Given the description of an element on the screen output the (x, y) to click on. 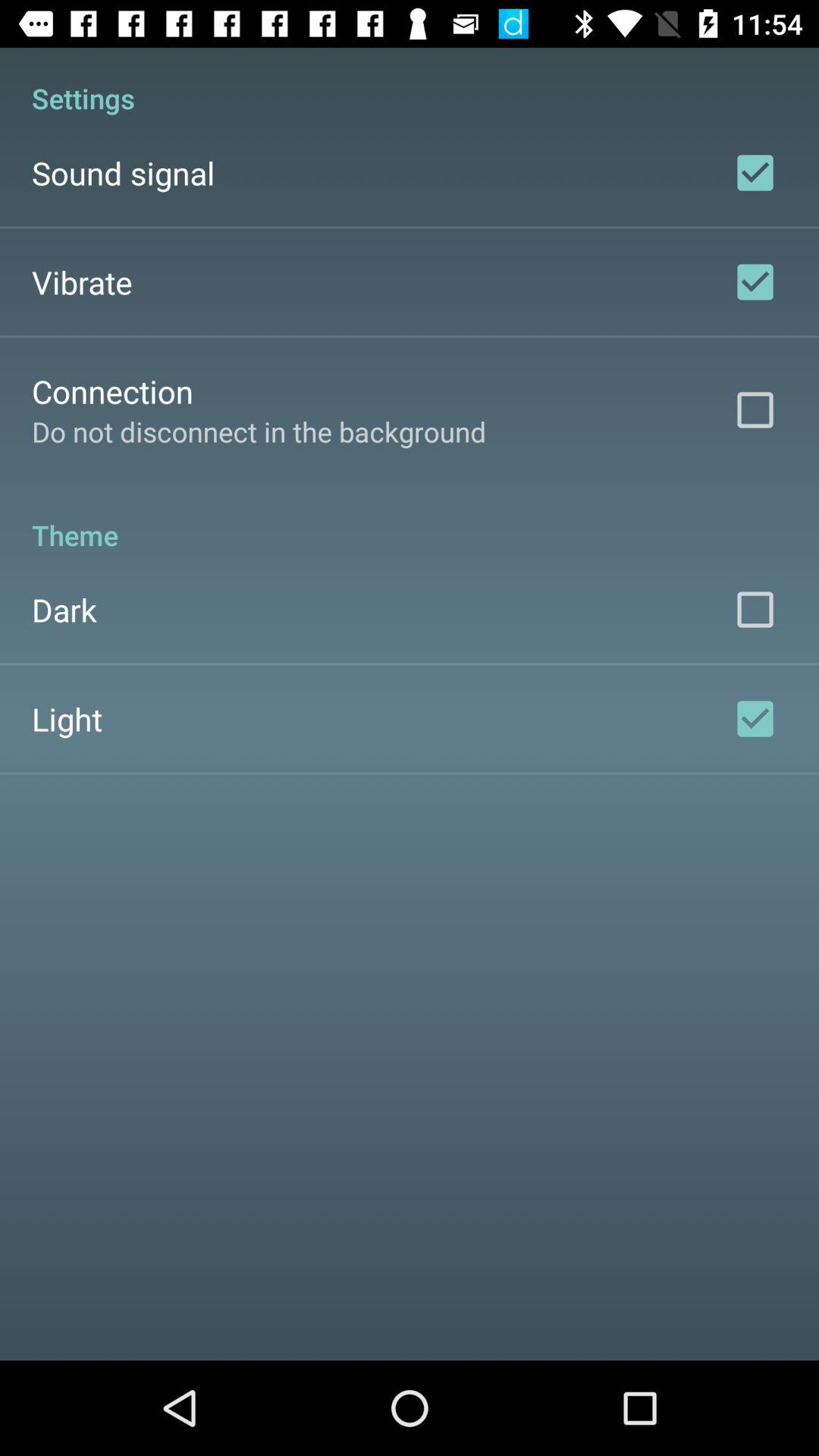
select icon at the center (409, 518)
